Given the description of an element on the screen output the (x, y) to click on. 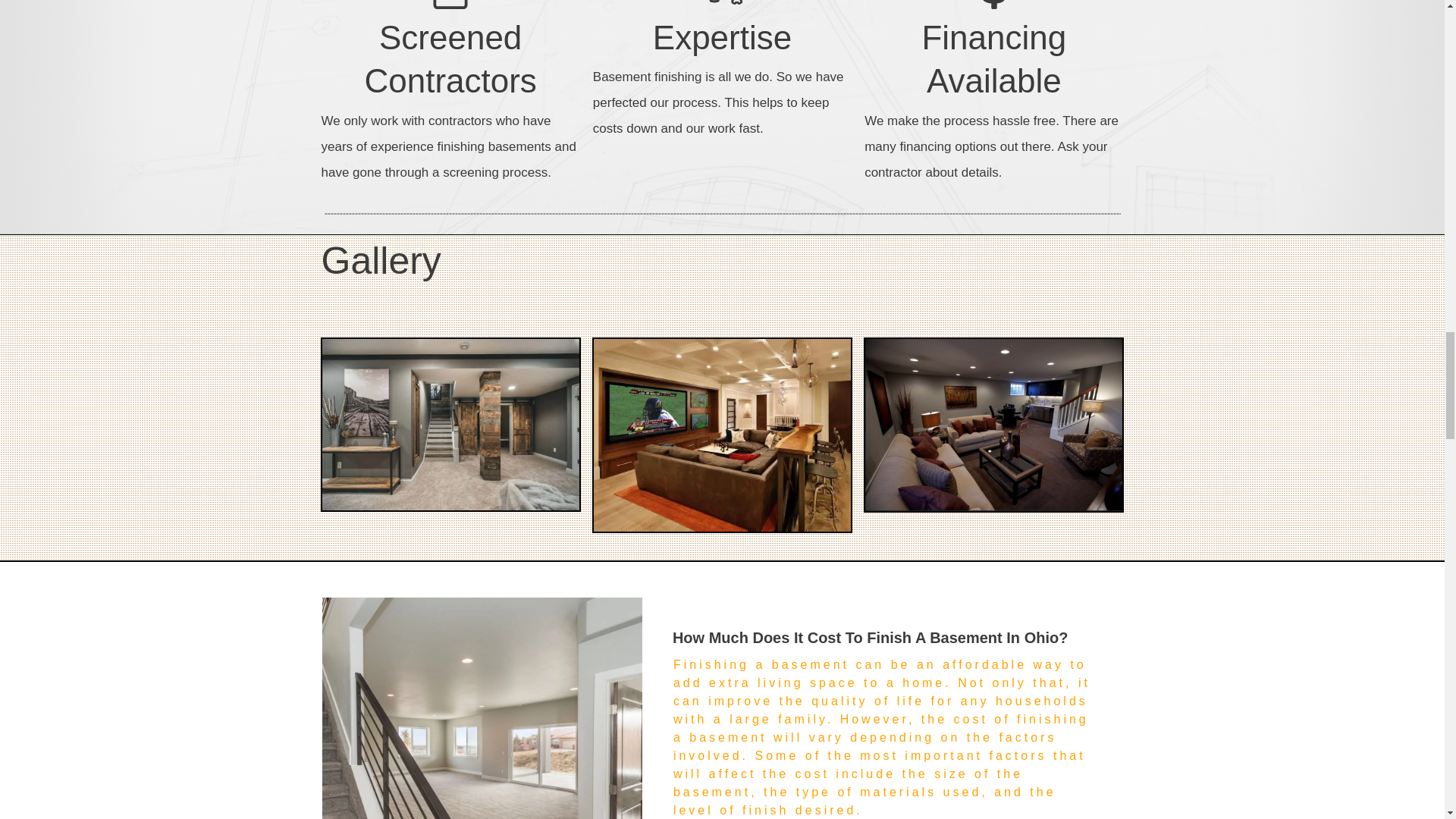
basement-flooring (722, 435)
basement-design (993, 425)
basement-design-ideas (449, 424)
